Given the description of an element on the screen output the (x, y) to click on. 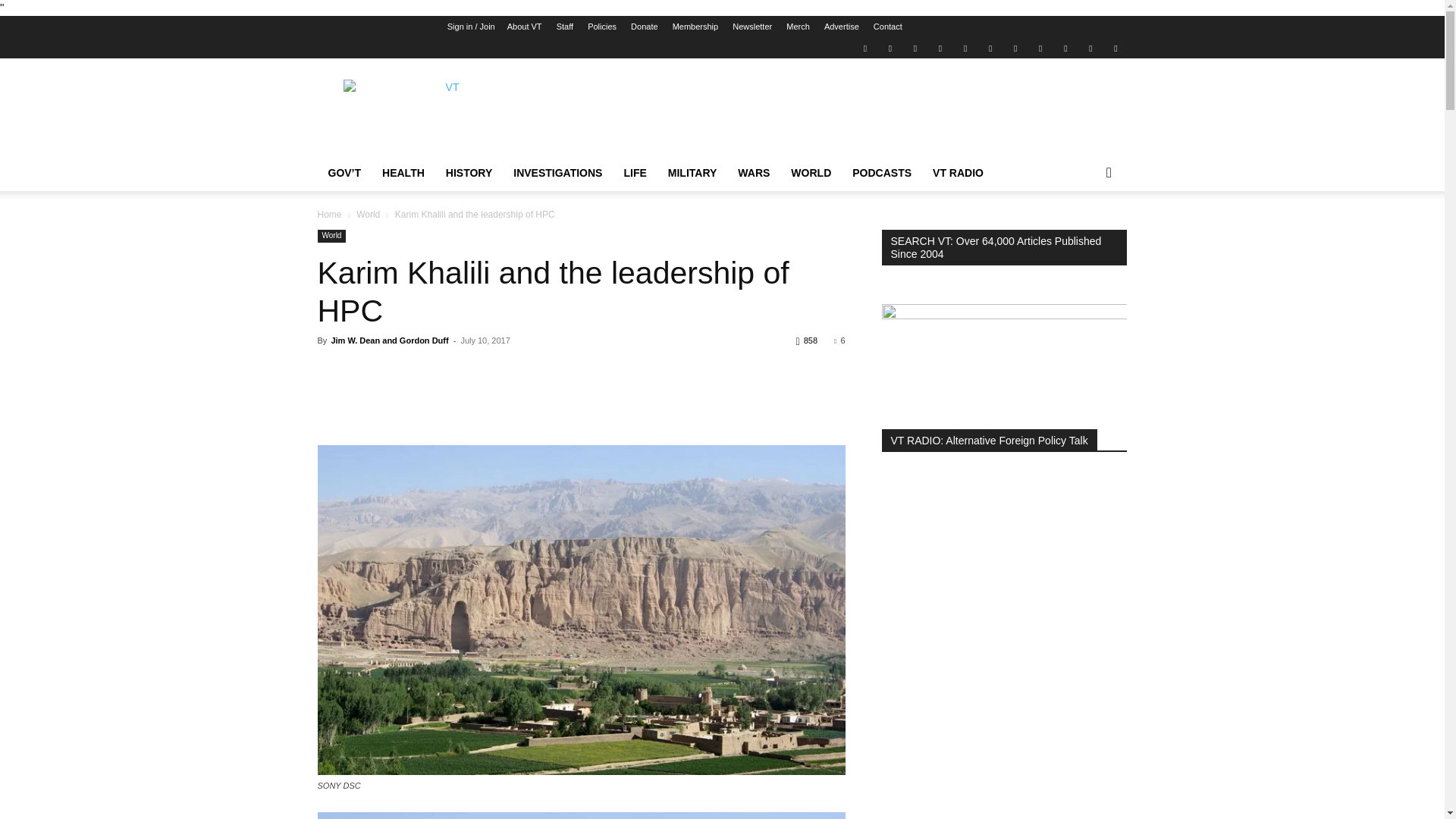
Newsletter (751, 26)
Mail (915, 47)
About VT (523, 26)
Merch (797, 26)
Rumble (964, 47)
Contact (887, 26)
Reddit (940, 47)
Membership (695, 26)
Policies (601, 26)
Staff (564, 26)
